Given the description of an element on the screen output the (x, y) to click on. 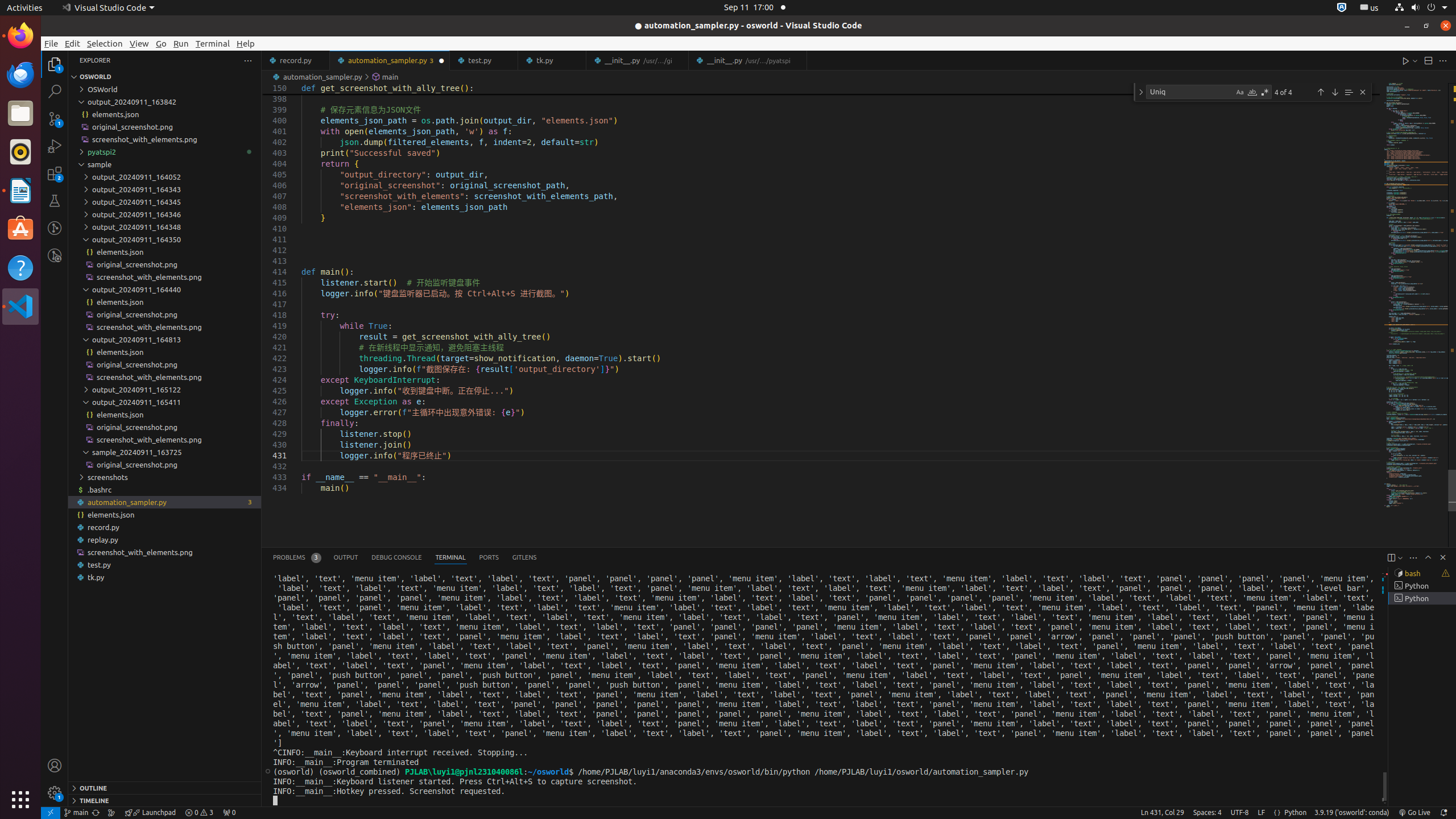
New Terminal (Ctrl+Shift+`) [Alt] Split Terminal (Ctrl+Shift+5) Element type: push-button (1390, 557)
Timeline Section Element type: push-button (164, 799)
Edit Element type: push-button (72, 43)
Show the GitLens Commit Graph Element type: push-button (111, 812)
